Given the description of an element on the screen output the (x, y) to click on. 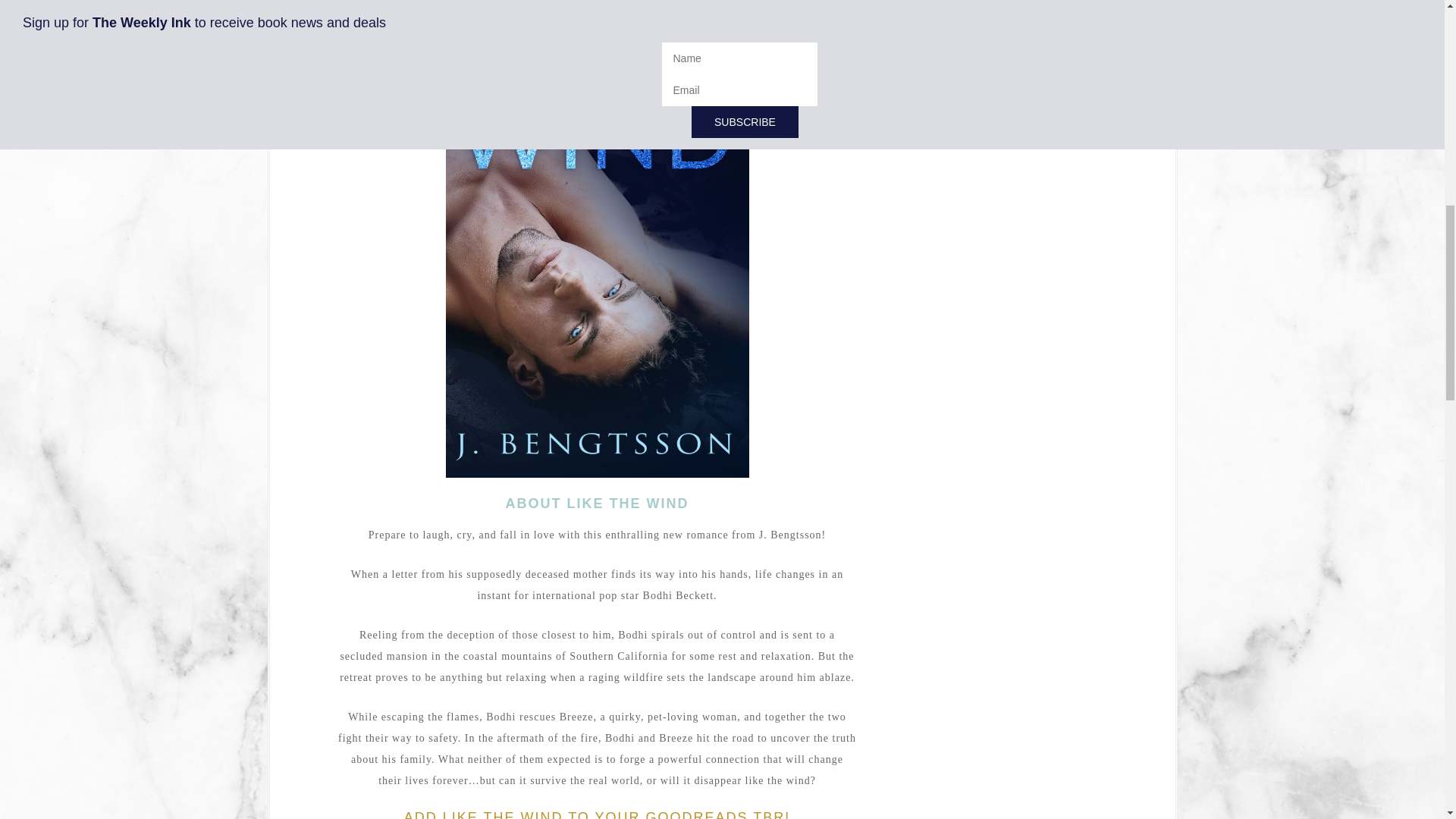
ADD LIKE THE WIND TO YOUR GOODREADS TBR! (597, 814)
